Given the description of an element on the screen output the (x, y) to click on. 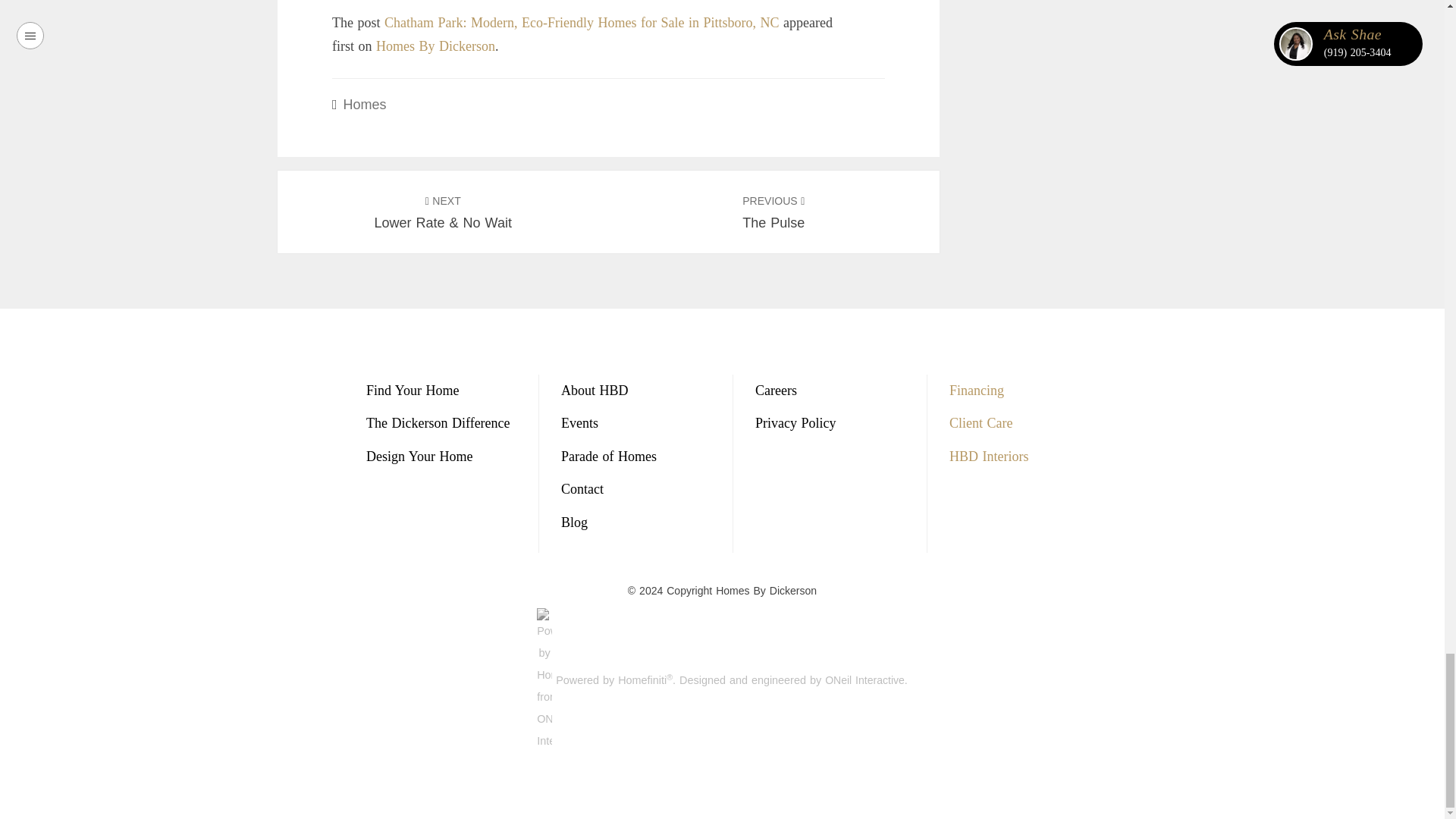
Homes By Dickerson (435, 46)
Homes (774, 211)
